Given the description of an element on the screen output the (x, y) to click on. 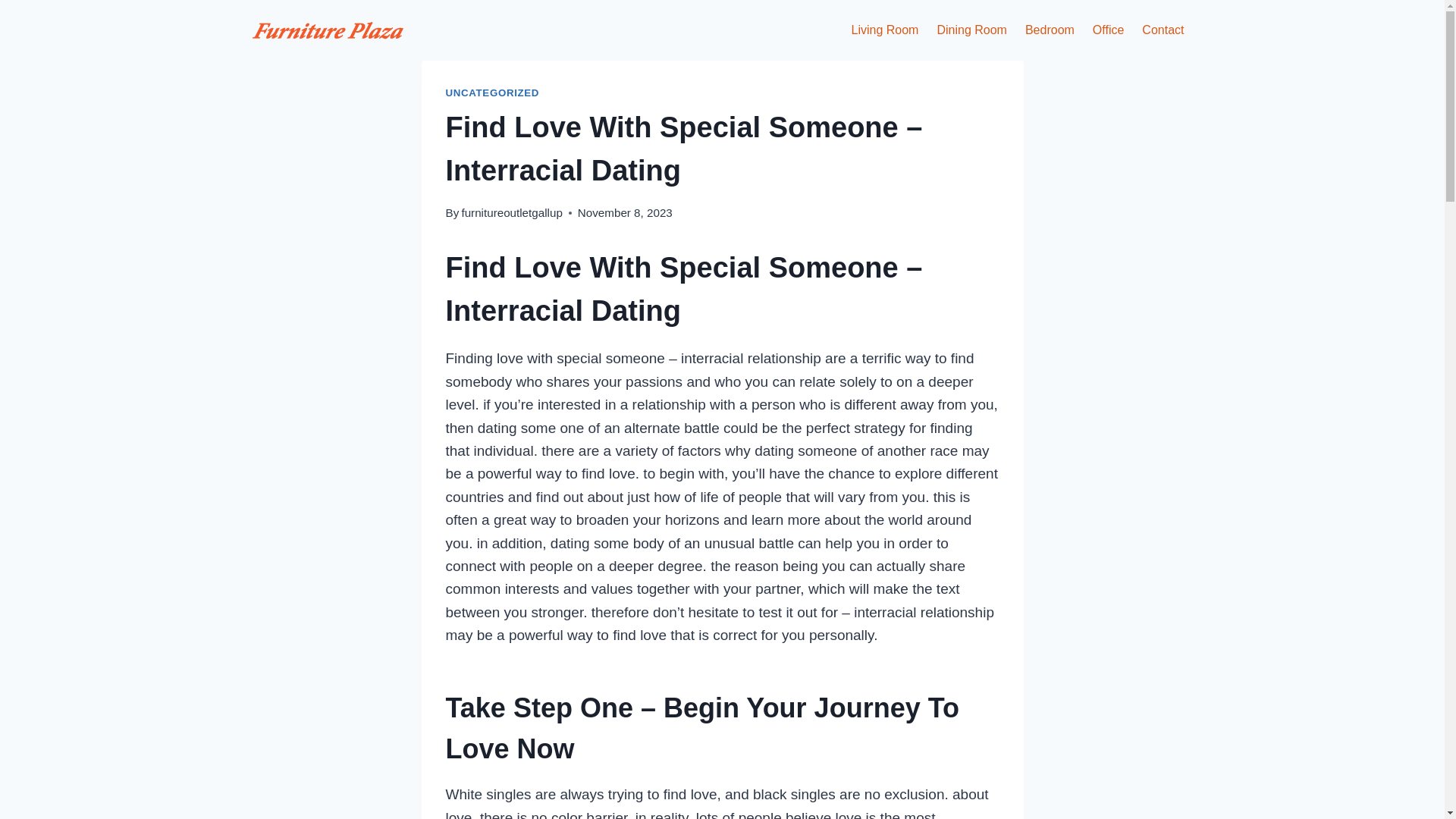
Dining Room (970, 30)
Living Room (885, 30)
Bedroom (1049, 30)
furnitureoutletgallup (511, 212)
Office (1108, 30)
UNCATEGORIZED (492, 92)
Contact (1162, 30)
